Given the description of an element on the screen output the (x, y) to click on. 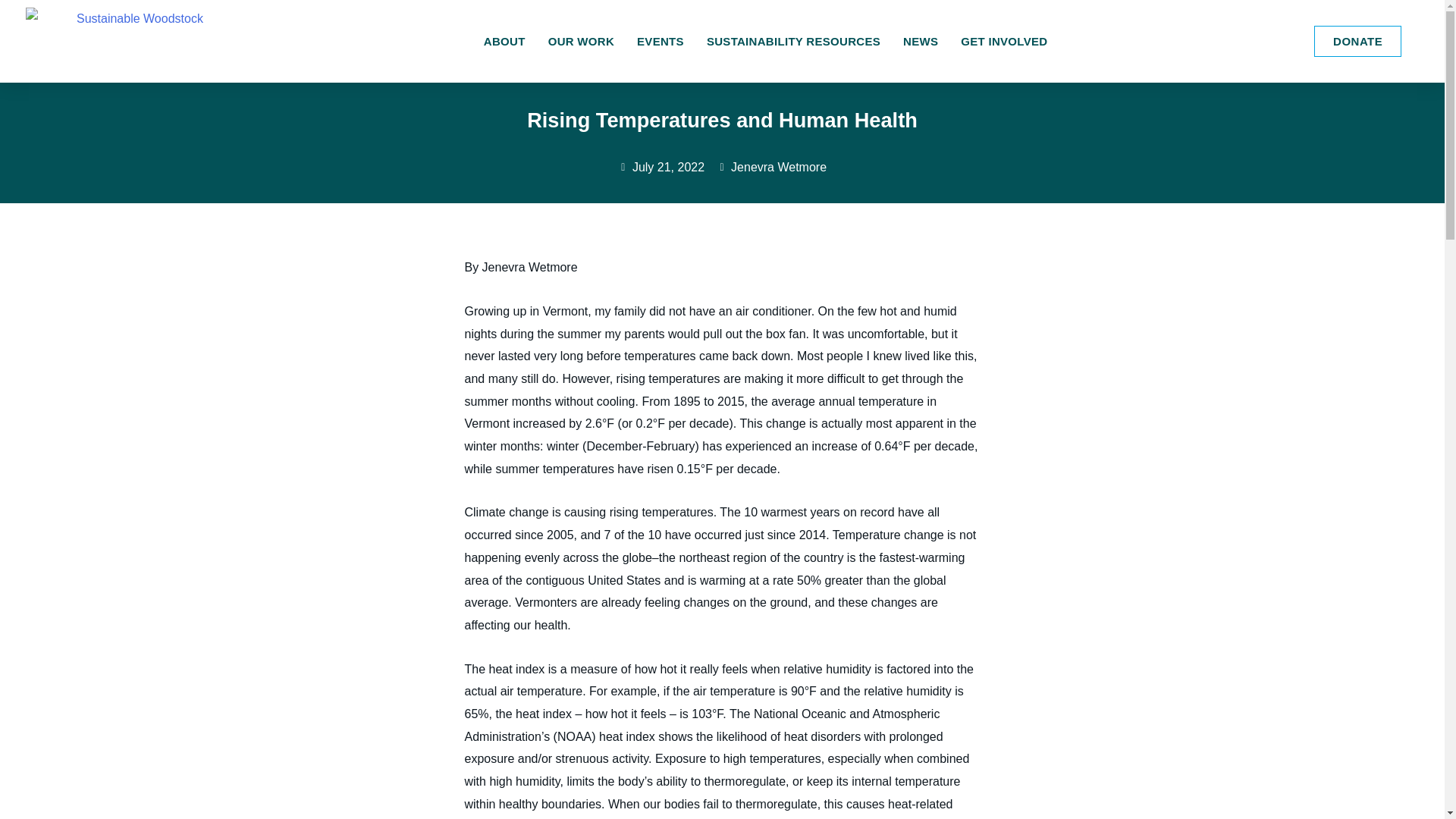
OUR WORK (581, 41)
EVENTS (660, 41)
ABOUT (504, 41)
SUSTAINABILITY RESOURCES (793, 41)
